Given the description of an element on the screen output the (x, y) to click on. 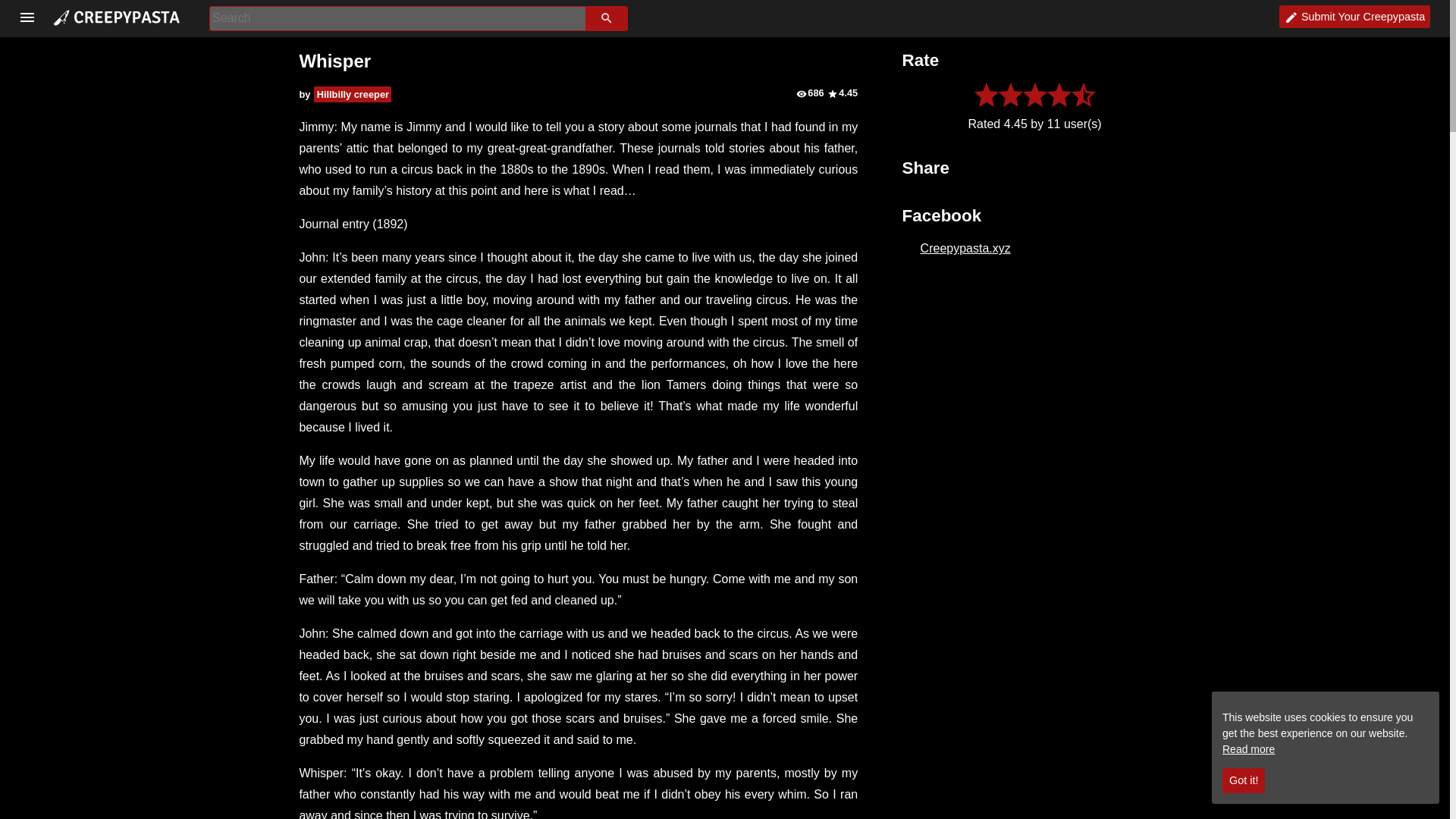
3 Stars (1034, 94)
Hillbilly creeper (352, 94)
Creepypasta.xyz (965, 247)
Search (606, 18)
5 Stars (1083, 94)
Submit Your Creepypasta (1355, 15)
4 Stars (1058, 94)
1 Star (986, 94)
 Publish (1355, 15)
